Given the description of an element on the screen output the (x, y) to click on. 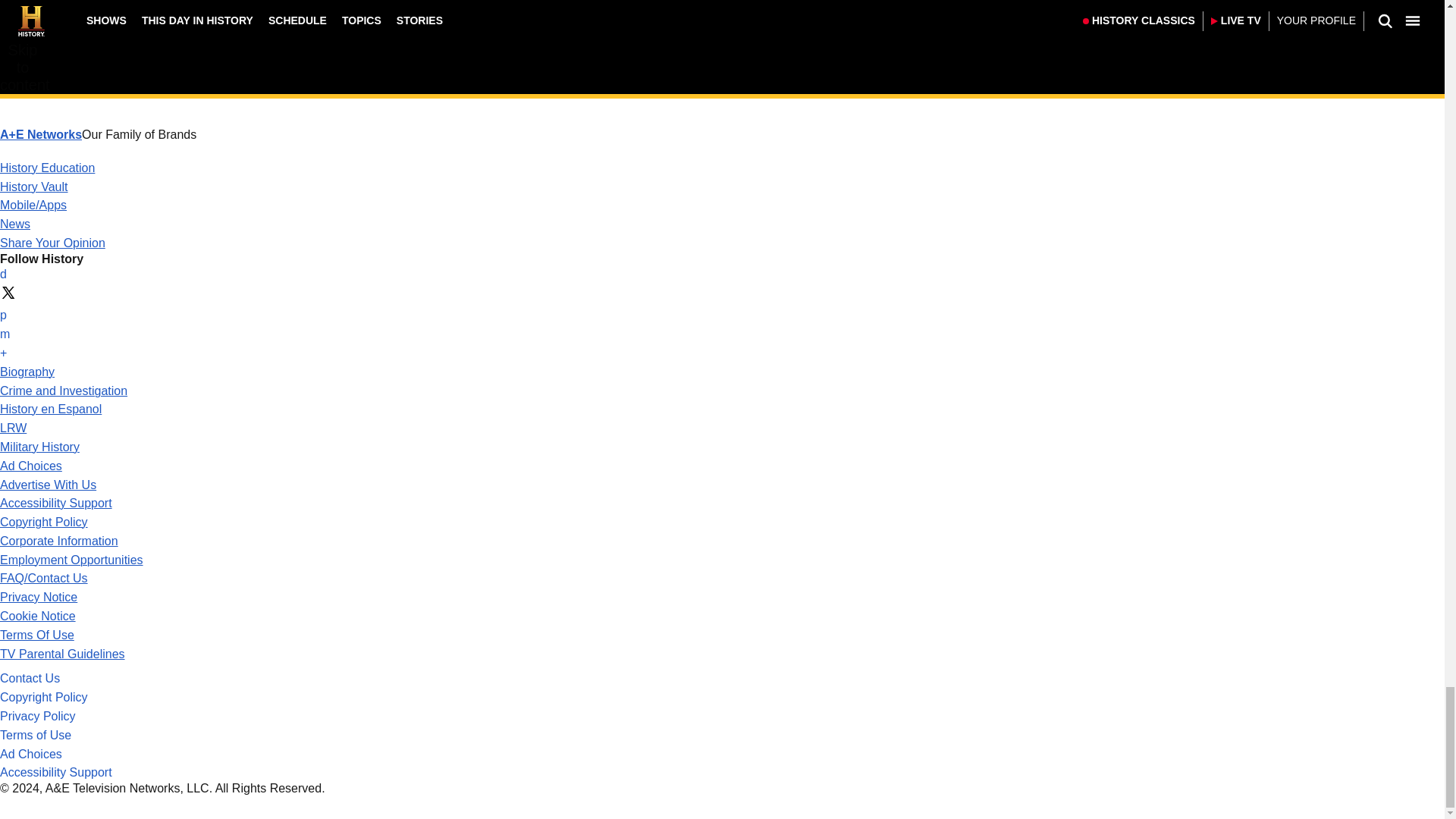
Visit Employment Opportunities (71, 559)
Visit LRW (13, 427)
Visit Copyright Policy (43, 521)
Visit Biography (27, 371)
Visit Military History (40, 446)
Visit Accessibility Support (56, 502)
Visit Ad Choices (31, 465)
Visit History Vault (34, 186)
Visit Share Your Opinion (52, 242)
Visit News (15, 223)
